Given the description of an element on the screen output the (x, y) to click on. 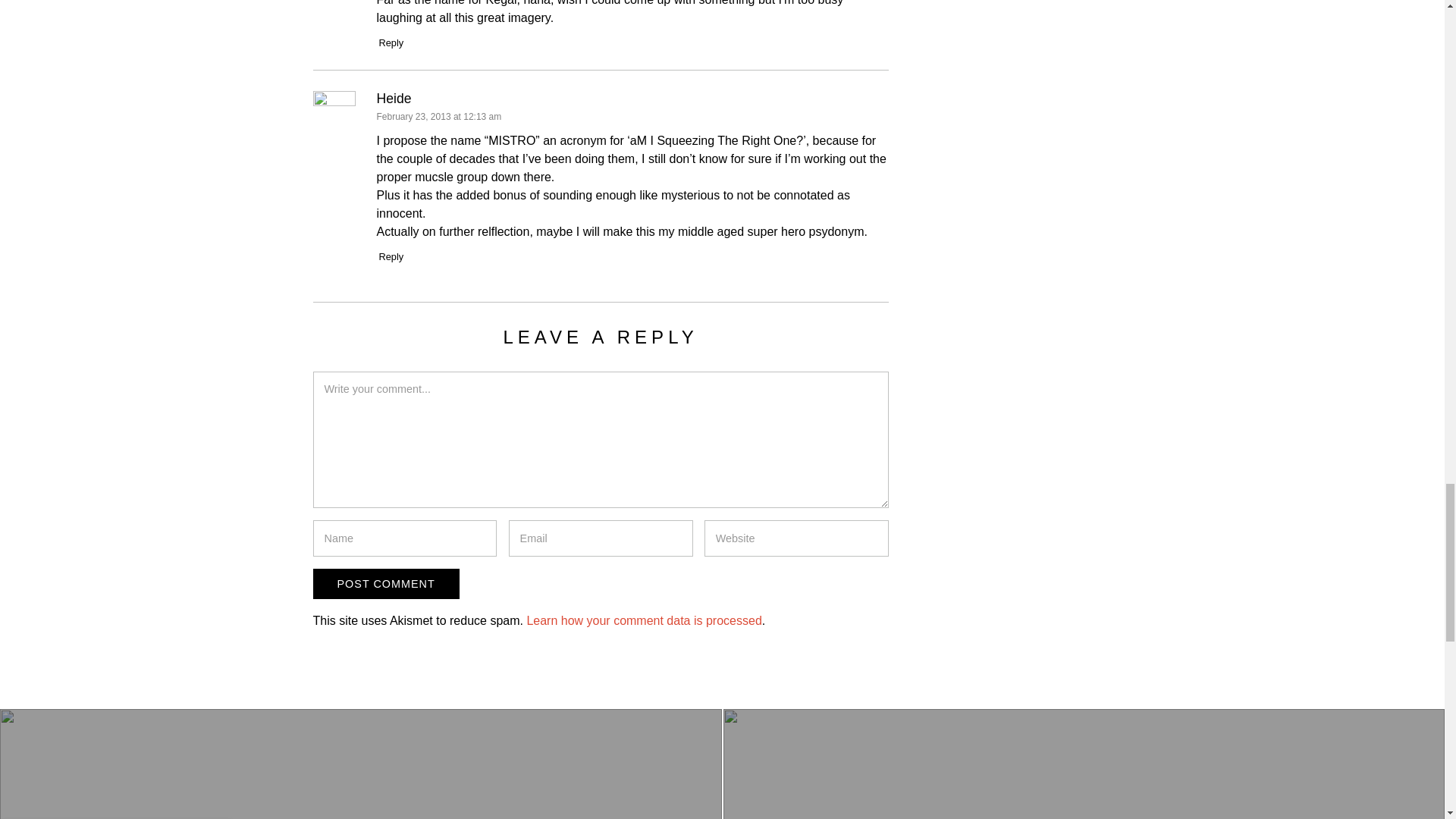
Post Comment (385, 583)
